Given the description of an element on the screen output the (x, y) to click on. 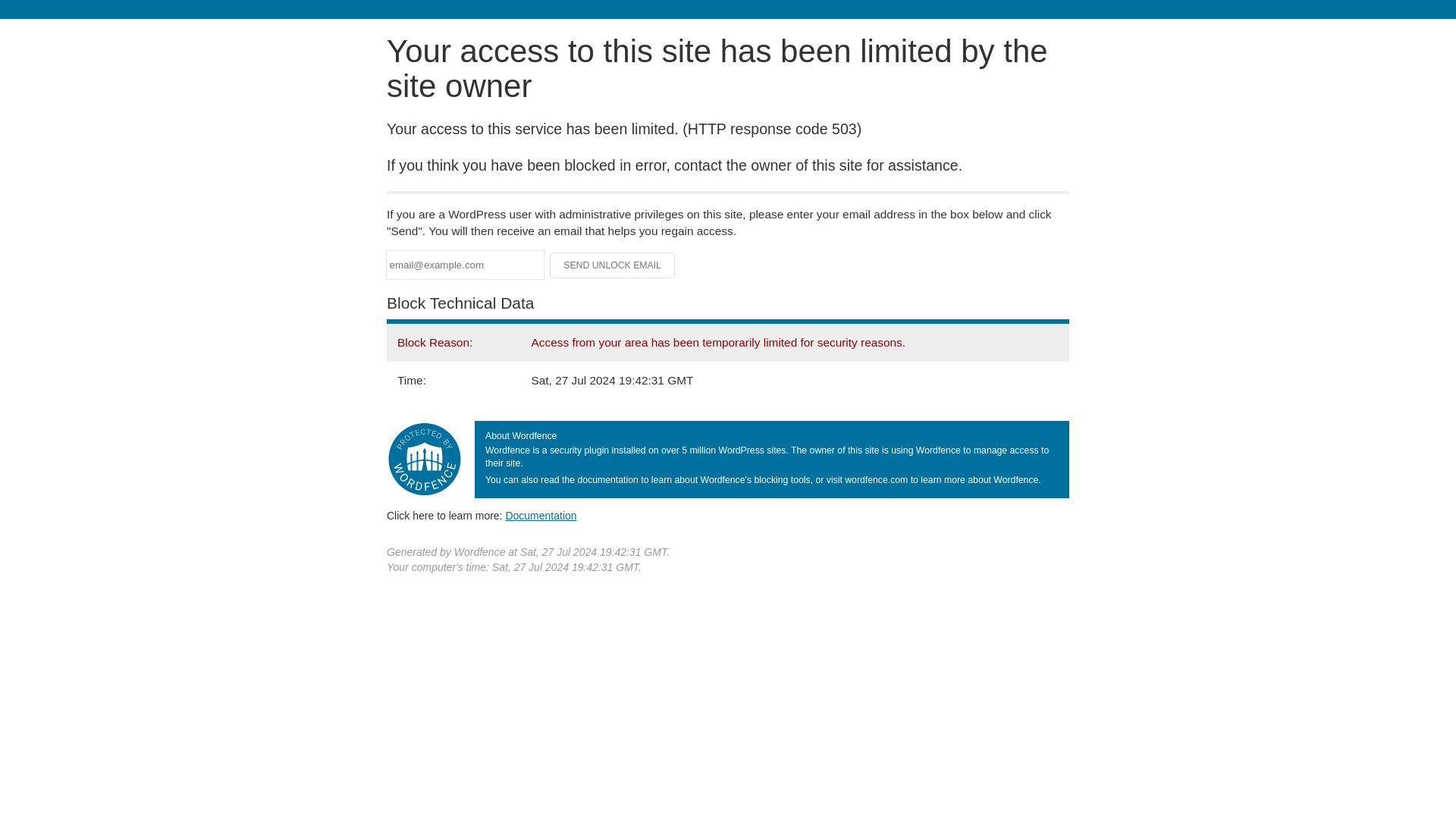
Send Unlock Email (612, 265)
Documentation (540, 515)
Send Unlock Email (612, 265)
